Given the description of an element on the screen output the (x, y) to click on. 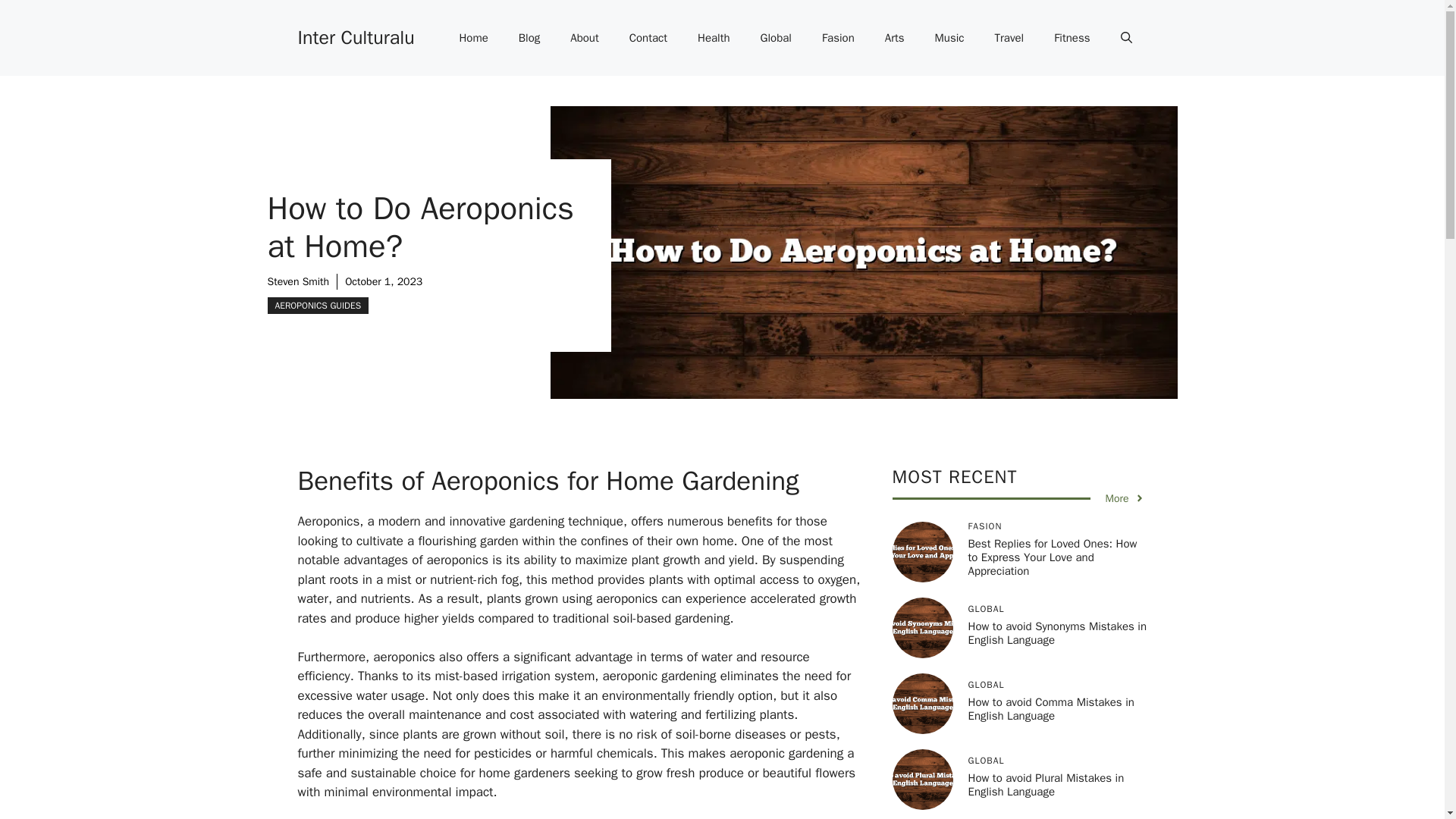
AEROPONICS GUIDES (317, 305)
Fitness (1072, 37)
Arts (894, 37)
Inter Culturalu (355, 37)
About (583, 37)
Music (949, 37)
Blog (528, 37)
Steven Smith (297, 281)
How to avoid Synonyms Mistakes in English Language (1057, 633)
Home (473, 37)
